Given the description of an element on the screen output the (x, y) to click on. 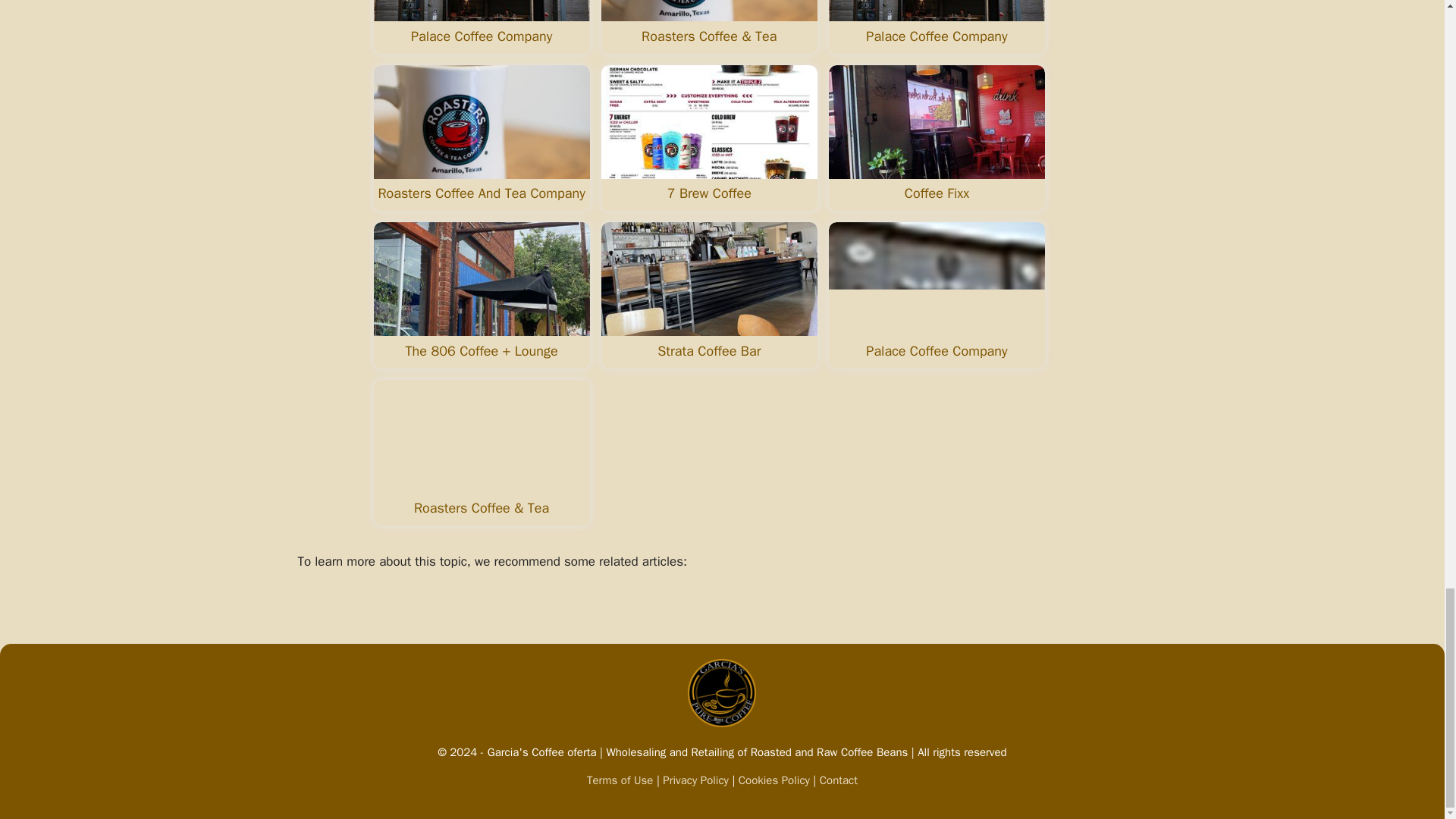
Palace Coffee Company Reviews And Opinions 7 (480, 278)
Palace Coffee Company Reviews And Opinions 5 (708, 122)
Palace Coffee Company Reviews And Opinions 4 (480, 122)
Palace Coffee Company Reviews And Opinions 6 (936, 122)
Palace Coffee Company Reviews And Opinions 1 (480, 10)
Palace Coffee Company Reviews And Opinions 2 (708, 10)
Palace Coffee Company Reviews And Opinions 3 (936, 10)
